Given the description of an element on the screen output the (x, y) to click on. 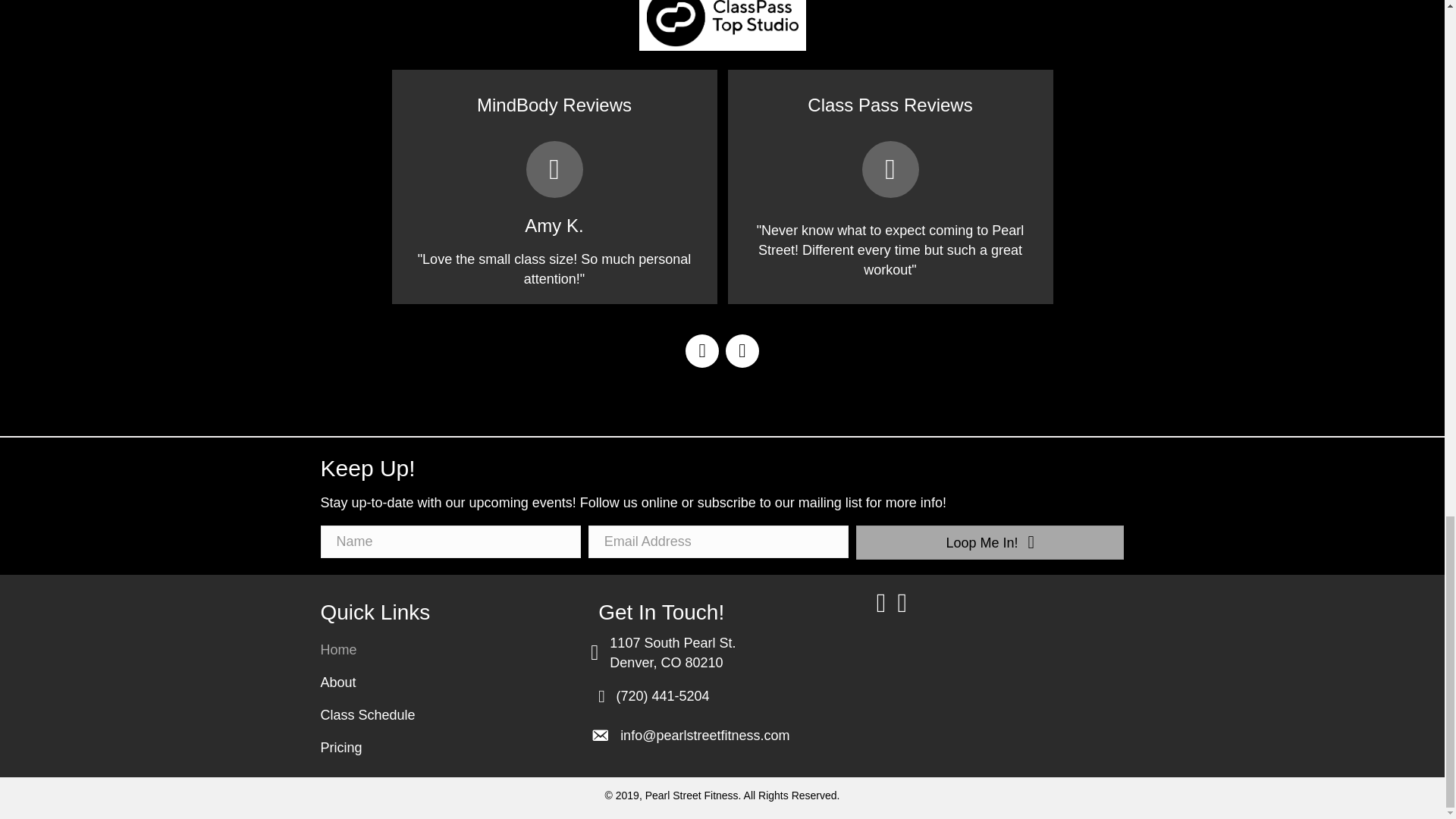
Pricing (438, 747)
Class Schedule (438, 715)
Loop Me In! (990, 542)
About (438, 682)
Home (438, 649)
